Given the description of an element on the screen output the (x, y) to click on. 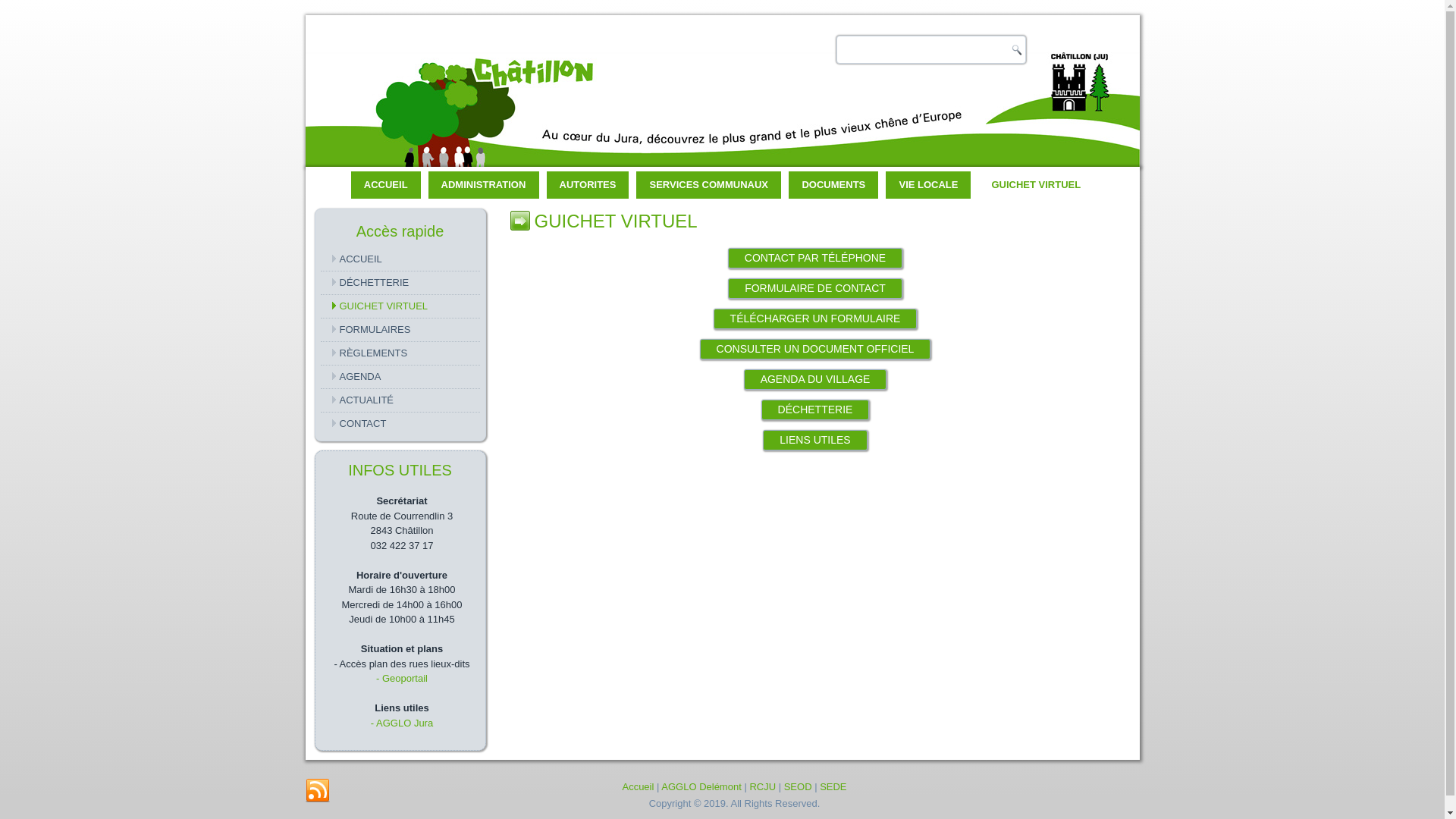
SEDE Element type: text (832, 786)
SERVICES COMMUNAUX Element type: text (708, 184)
GUICHET VIRTUEL Element type: text (399, 305)
RCJU Element type: text (762, 786)
CONSULTER UN DOCUMENT OFFICIEL Element type: text (815, 348)
FORMULAIRES Element type: text (399, 329)
GUICHET VIRTUEL Element type: text (1035, 185)
VIE LOCALE Element type: text (927, 184)
ACCUEIL Element type: text (399, 258)
- AGGLO Jura Element type: text (401, 722)
FORMULAIRE DE CONTACT Element type: text (815, 288)
AGENDA DU VILLAGE Element type: text (815, 379)
ACCUEIL Element type: text (385, 184)
- Geoportail Element type: text (401, 678)
AGENDA Element type: text (399, 376)
LIENS UTILES Element type: text (814, 439)
ADMINISTRATION Element type: text (483, 184)
Accueil Element type: text (637, 786)
DOCUMENTS Element type: text (833, 184)
AUTORITES Element type: text (587, 184)
CONTACT Element type: text (399, 423)
SEOD Element type: text (798, 786)
